Given the description of an element on the screen output the (x, y) to click on. 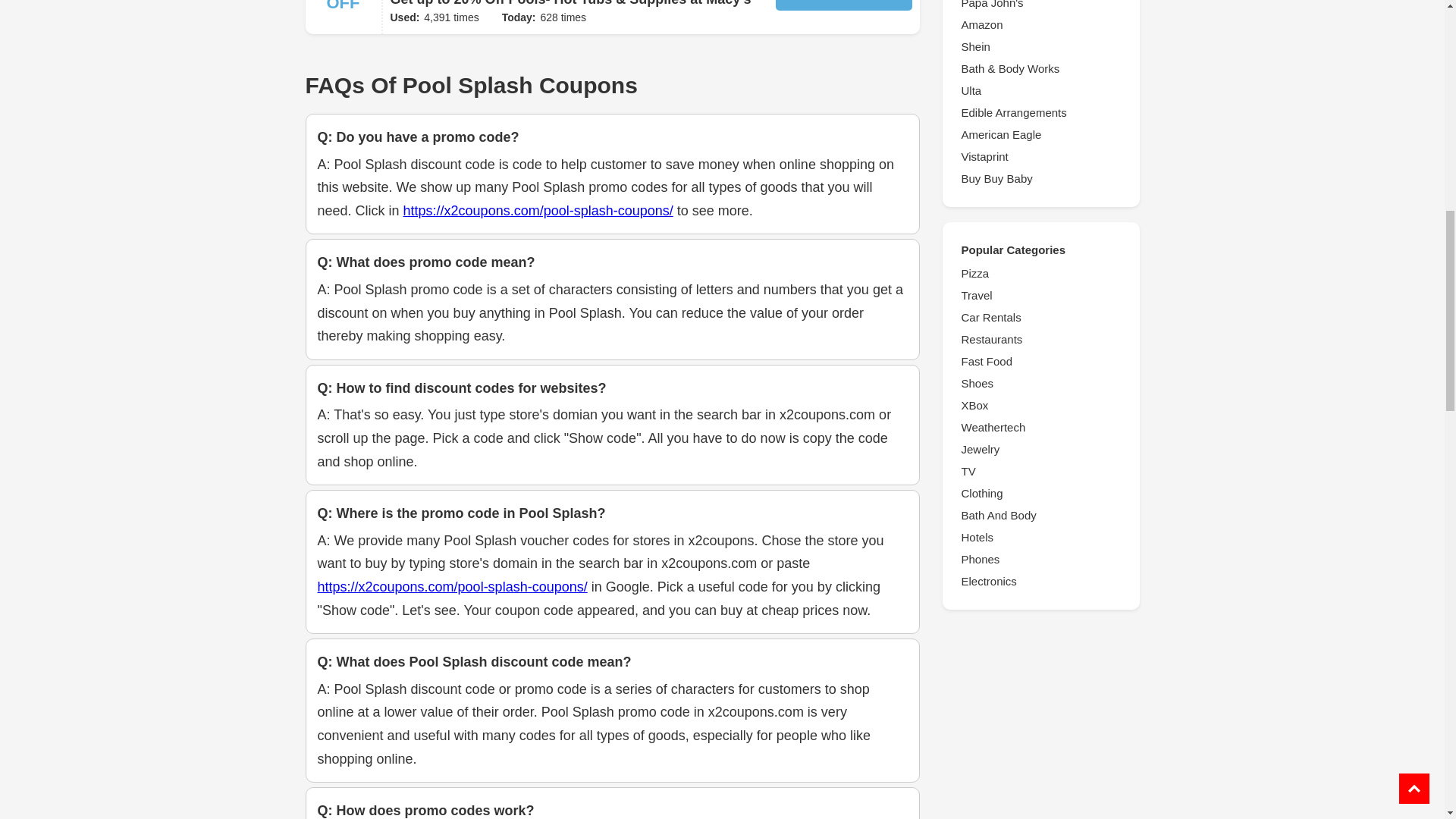
Amazon (1040, 24)
Papa John's (1040, 6)
American Eagle (1040, 135)
Edible Arrangements (1040, 113)
Shein (1040, 46)
Ulta (1040, 90)
